Given the description of an element on the screen output the (x, y) to click on. 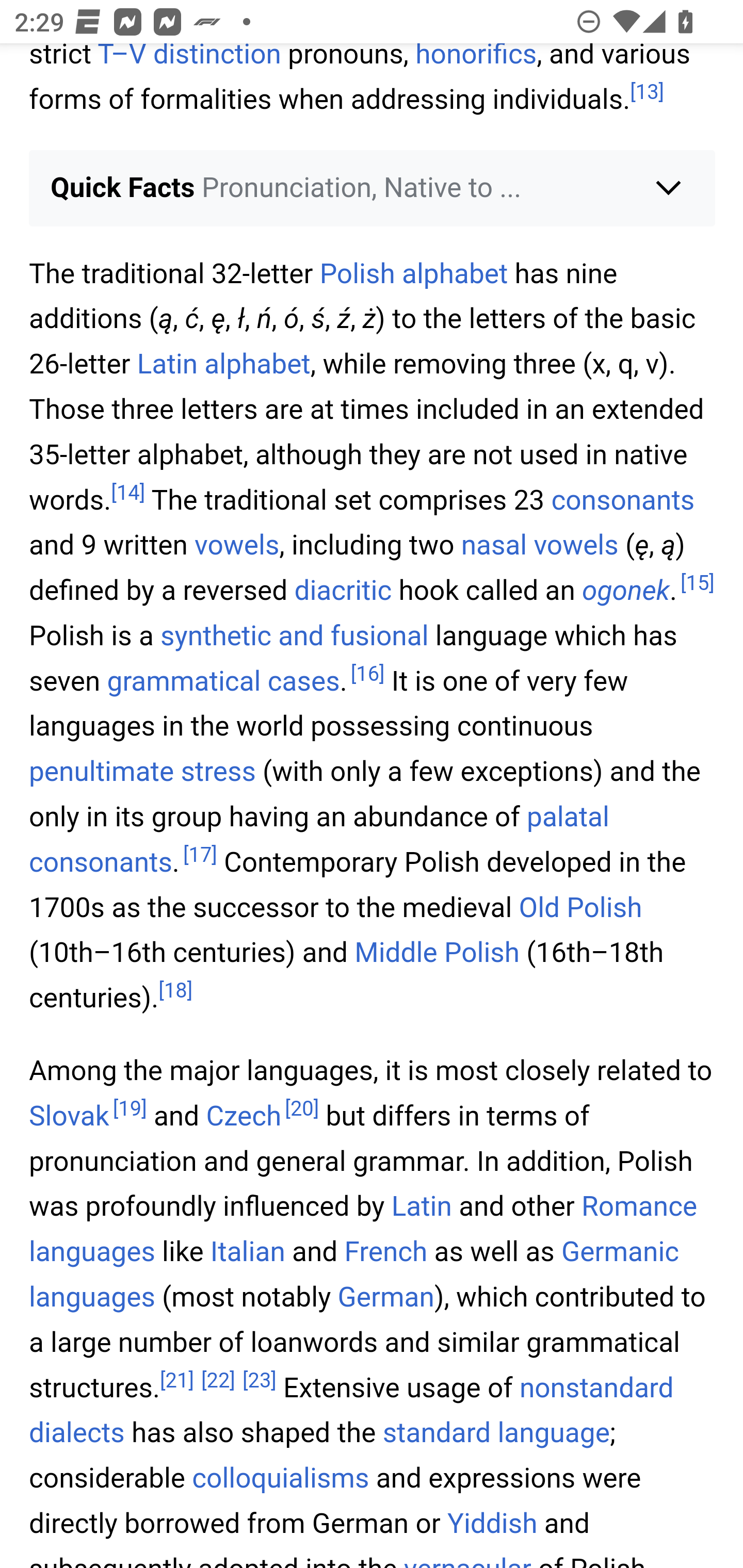
T–V distinction (189, 57)
honorifics (476, 57)
[] [ 13 ] (647, 92)
Polish alphabet (413, 275)
Latin alphabet (223, 365)
[] [ 14 ] (127, 492)
consonants (622, 500)
vowels (236, 545)
nasal vowels (538, 545)
[] [ 15 ] (696, 583)
diacritic (342, 590)
ogonek (625, 590)
synthetic and fusional (294, 636)
[] [ 16 ] (368, 673)
grammatical cases (223, 680)
penultimate stress (142, 771)
palatal consonants (319, 840)
[] [ 17 ] (200, 855)
Old Polish (579, 908)
Middle Polish (436, 953)
[] [ 18 ] (174, 991)
[] [ 19 ] (129, 1109)
[] [ 20 ] (301, 1109)
Slovak (68, 1116)
Czech (243, 1116)
Romance languages (363, 1230)
Latin (421, 1207)
Germanic languages (354, 1275)
Italian (247, 1253)
French (385, 1253)
German (384, 1298)
[] [ 21 ] (176, 1380)
[] [ 22 ] (217, 1380)
[] [ 23 ] (259, 1380)
nonstandard dialects (351, 1411)
standard language (495, 1434)
colloquialisms (280, 1478)
Yiddish (491, 1523)
